Given the description of an element on the screen output the (x, y) to click on. 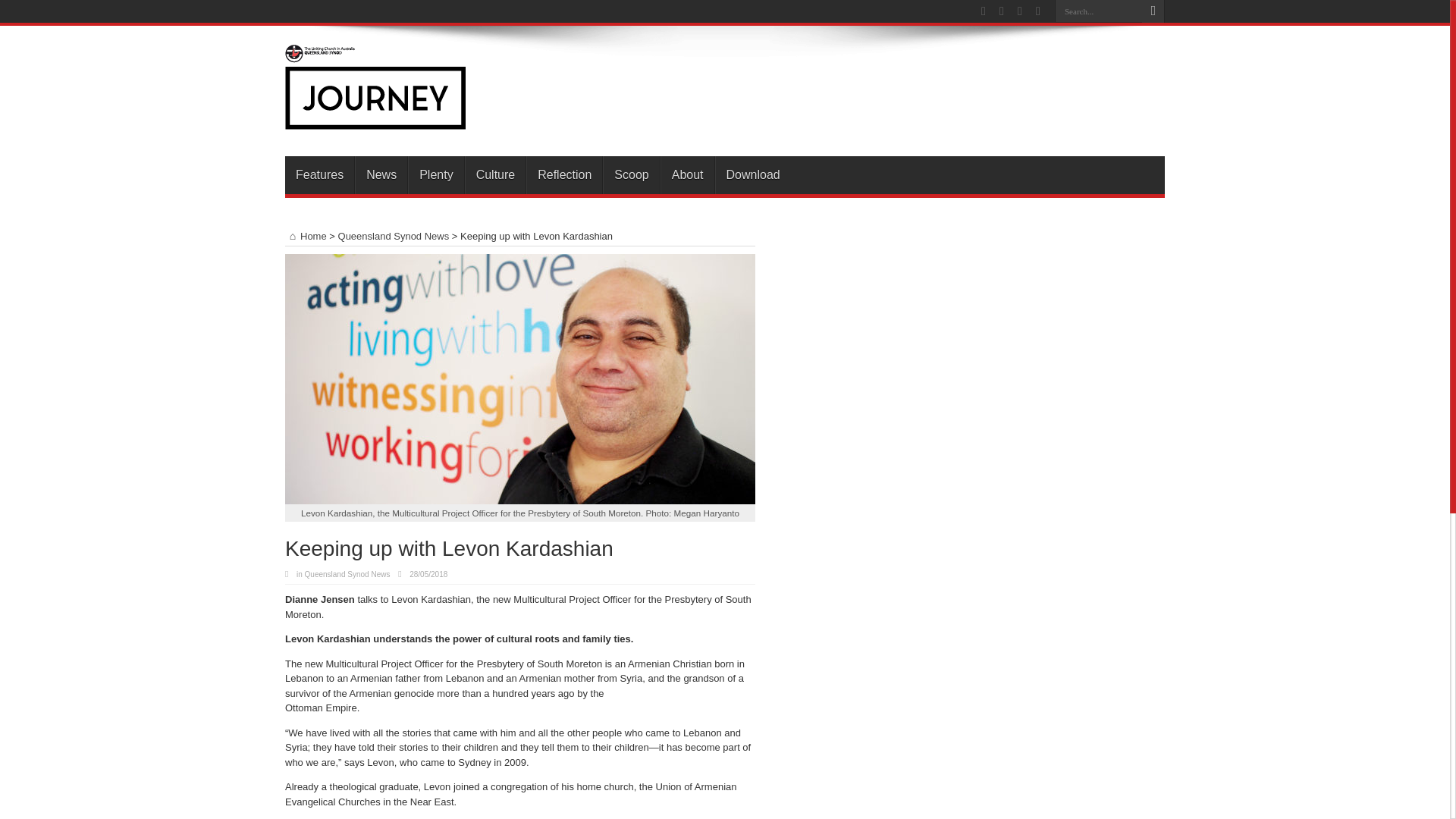
Scoop (630, 175)
About (687, 175)
Search (1152, 11)
Search... (1097, 11)
JourneyOnline (375, 117)
Plenty (435, 175)
Download (752, 175)
Queensland Synod News (393, 235)
Queensland Synod News (347, 574)
Features (319, 175)
